Given the description of an element on the screen output the (x, y) to click on. 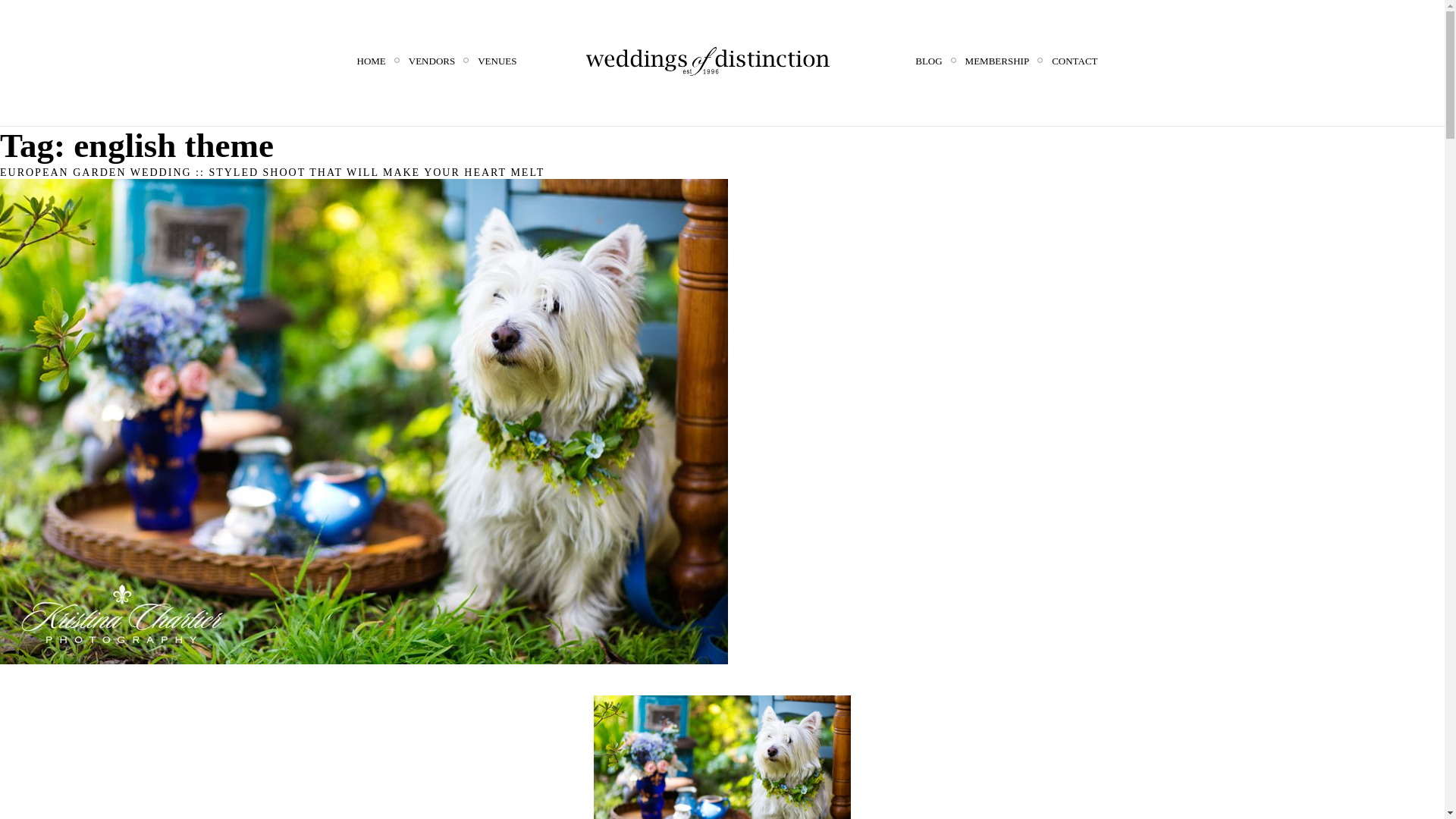
VENDORS (431, 61)
MEMBERSHIP (997, 61)
HOME (370, 61)
BLOG (928, 61)
San Diego Weddings Of Distinction (707, 61)
San Diego Weddings Of Distinction (707, 61)
Vendors (431, 61)
CONTACT (1074, 61)
VENUES (496, 61)
